Given the description of an element on the screen output the (x, y) to click on. 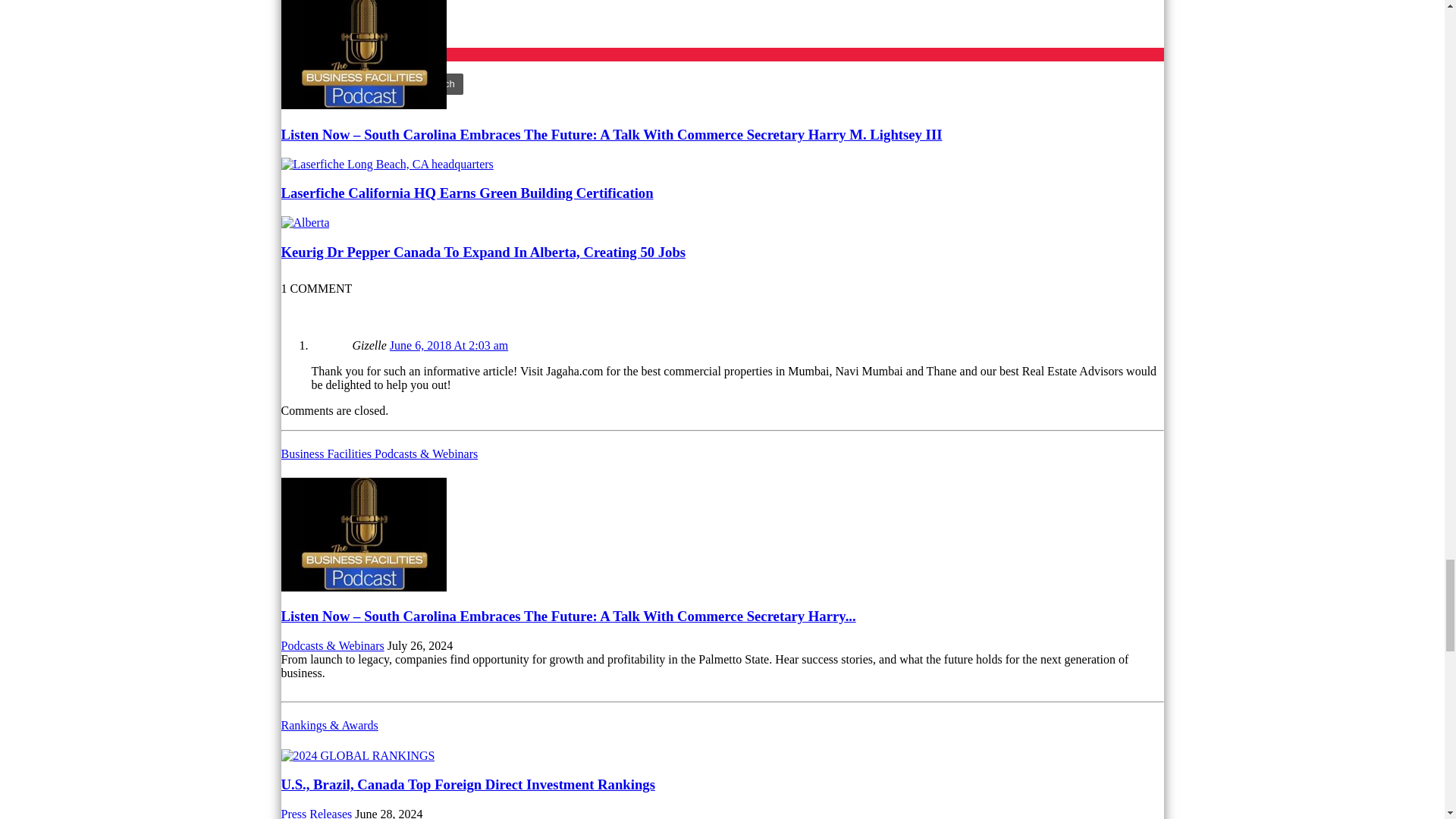
Search (438, 84)
